Given the description of an element on the screen output the (x, y) to click on. 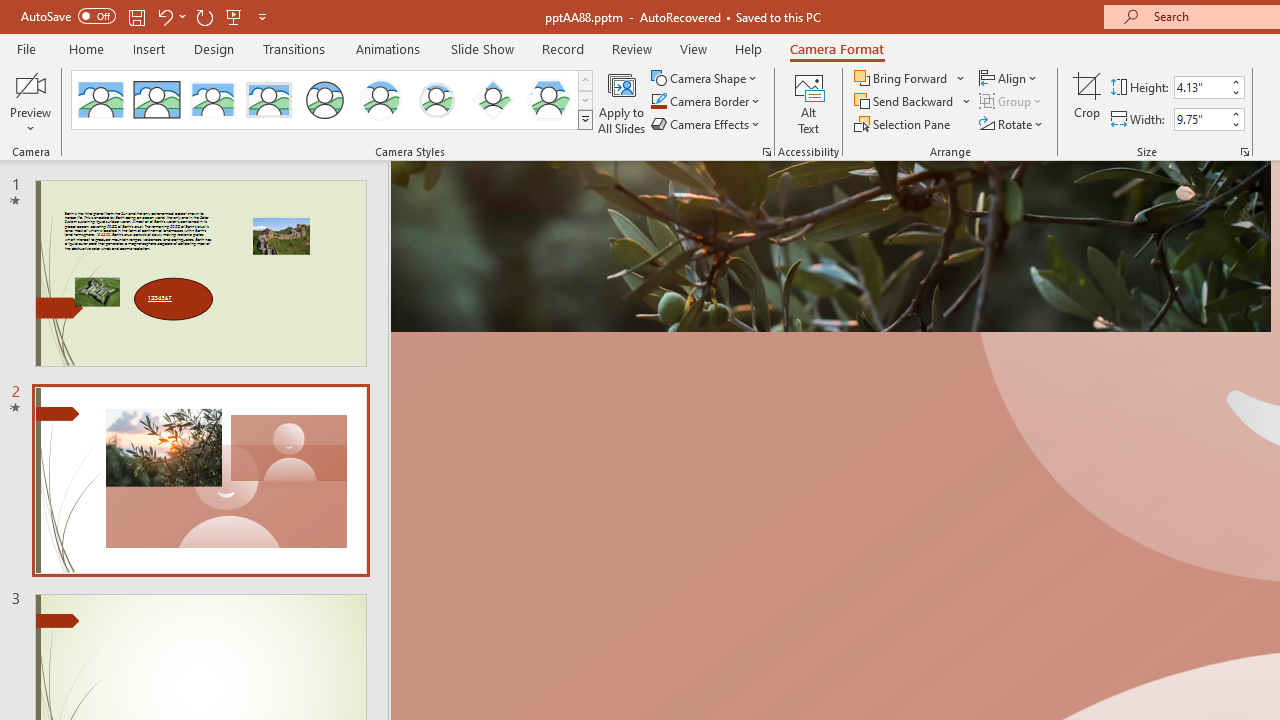
Camera Effects (706, 124)
Simple Frame Circle (324, 100)
Bring Forward (902, 78)
No Style (100, 100)
Camera Format (836, 48)
Close up of an olive branch on a sunset (830, 246)
Camera Border (706, 101)
Bring Forward (910, 78)
Cameo Width (1201, 119)
Cameo Height (1201, 87)
